Given the description of an element on the screen output the (x, y) to click on. 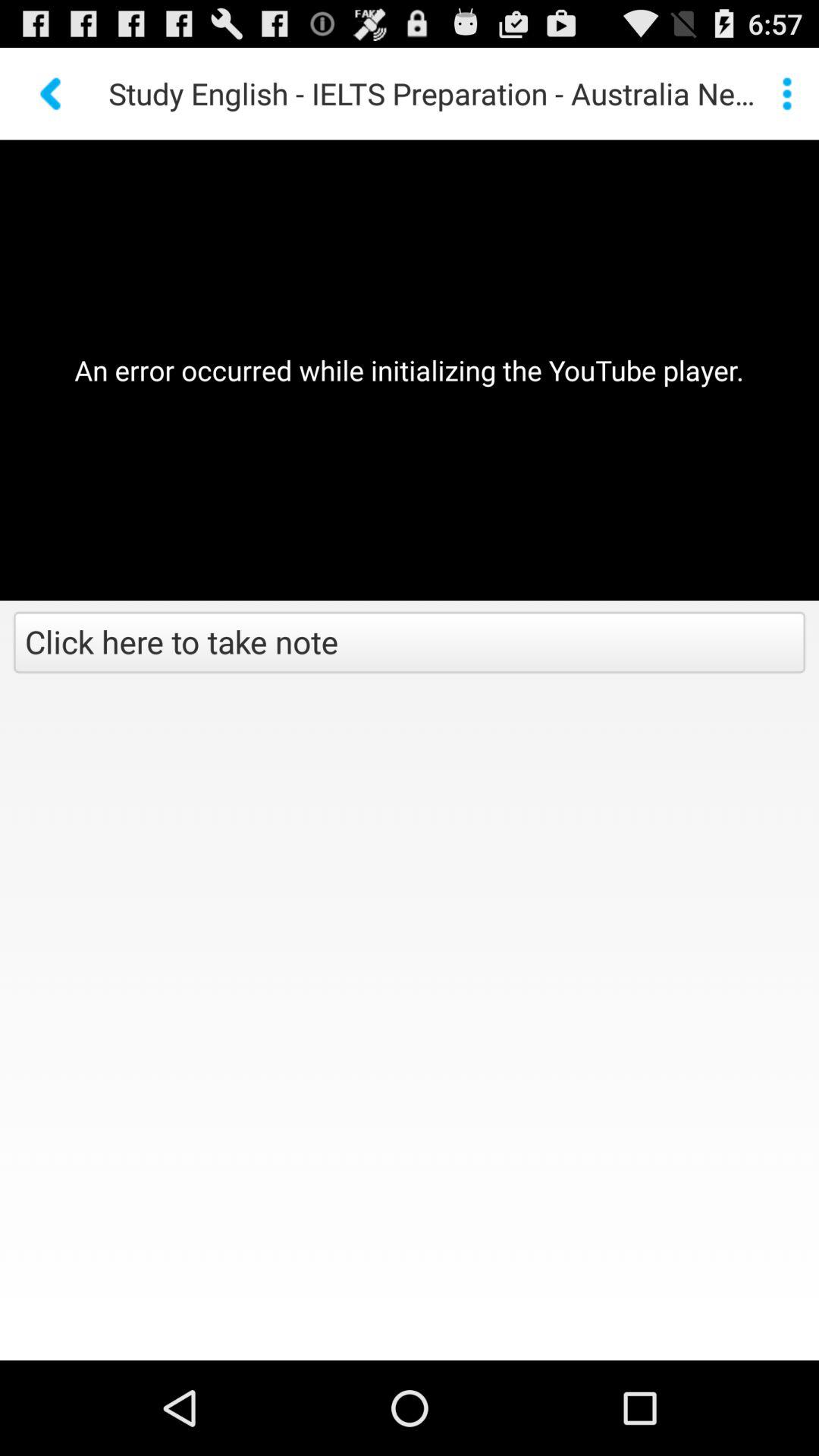
tap app to the left of study english ielts (52, 93)
